Given the description of an element on the screen output the (x, y) to click on. 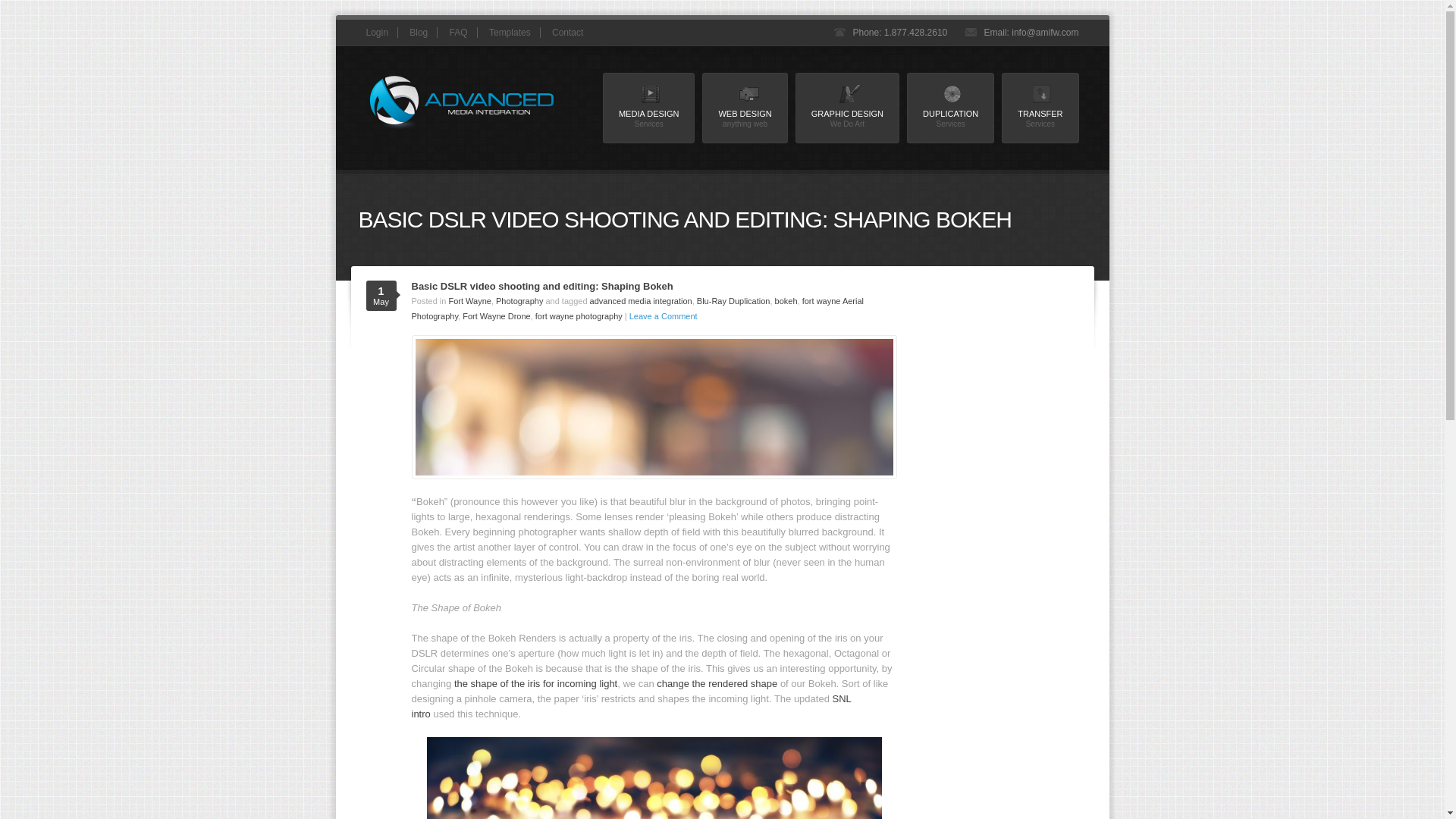
Photography (648, 107)
Contact (519, 300)
advanced media integration (567, 32)
Blu-Ray Duplication (641, 300)
SNL intro (744, 107)
FAQ (846, 107)
change the rendered shape (733, 300)
bokeh (630, 705)
Blog (458, 32)
Templates (716, 683)
Login (785, 300)
